Given the description of an element on the screen output the (x, y) to click on. 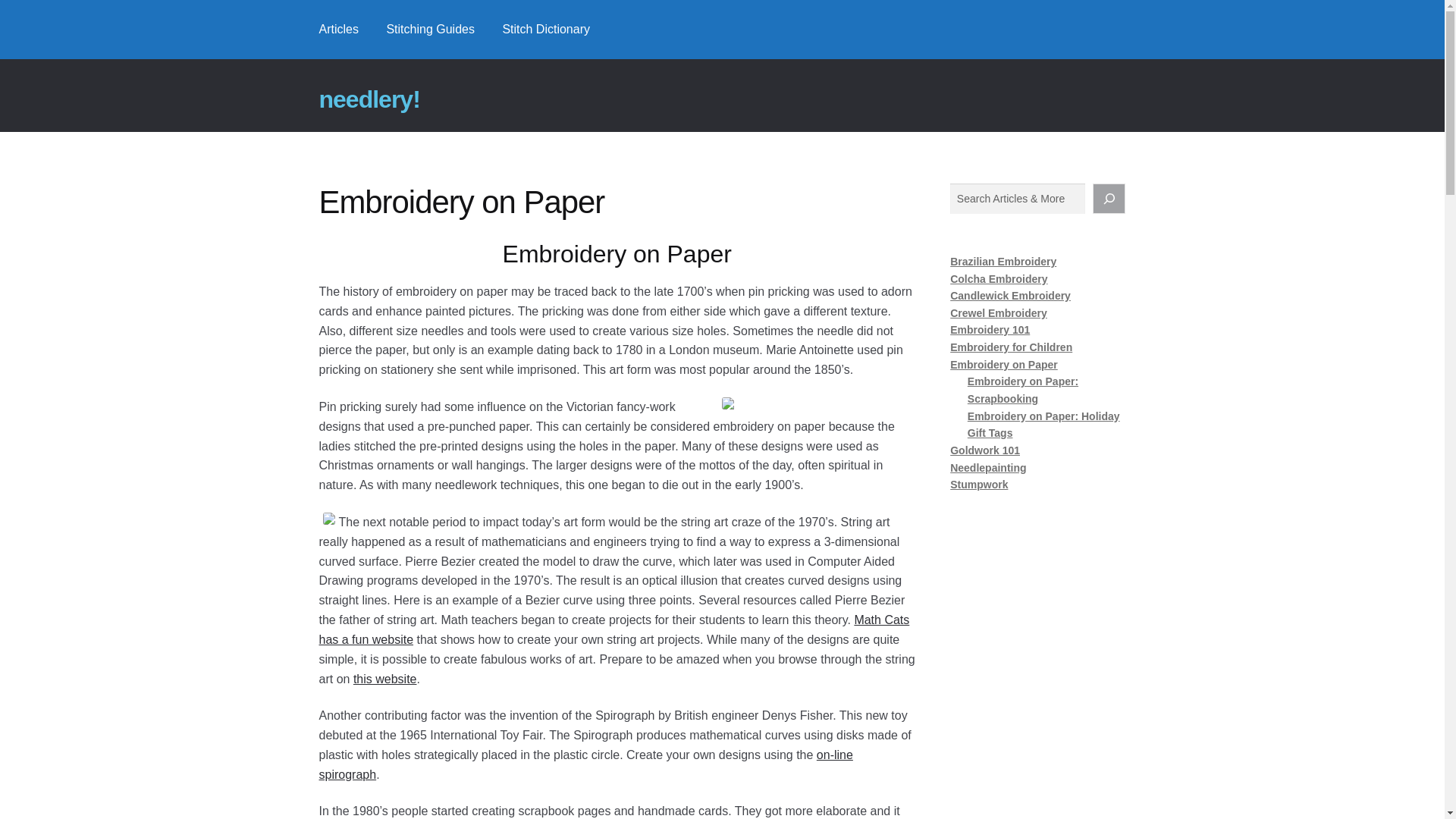
Stitch Dictionary (545, 29)
on-line spirograph (585, 764)
Stitching Guides (430, 29)
Articles (339, 29)
needlery! (369, 99)
Math Cats has a fun website (614, 629)
this website (384, 678)
